Given the description of an element on the screen output the (x, y) to click on. 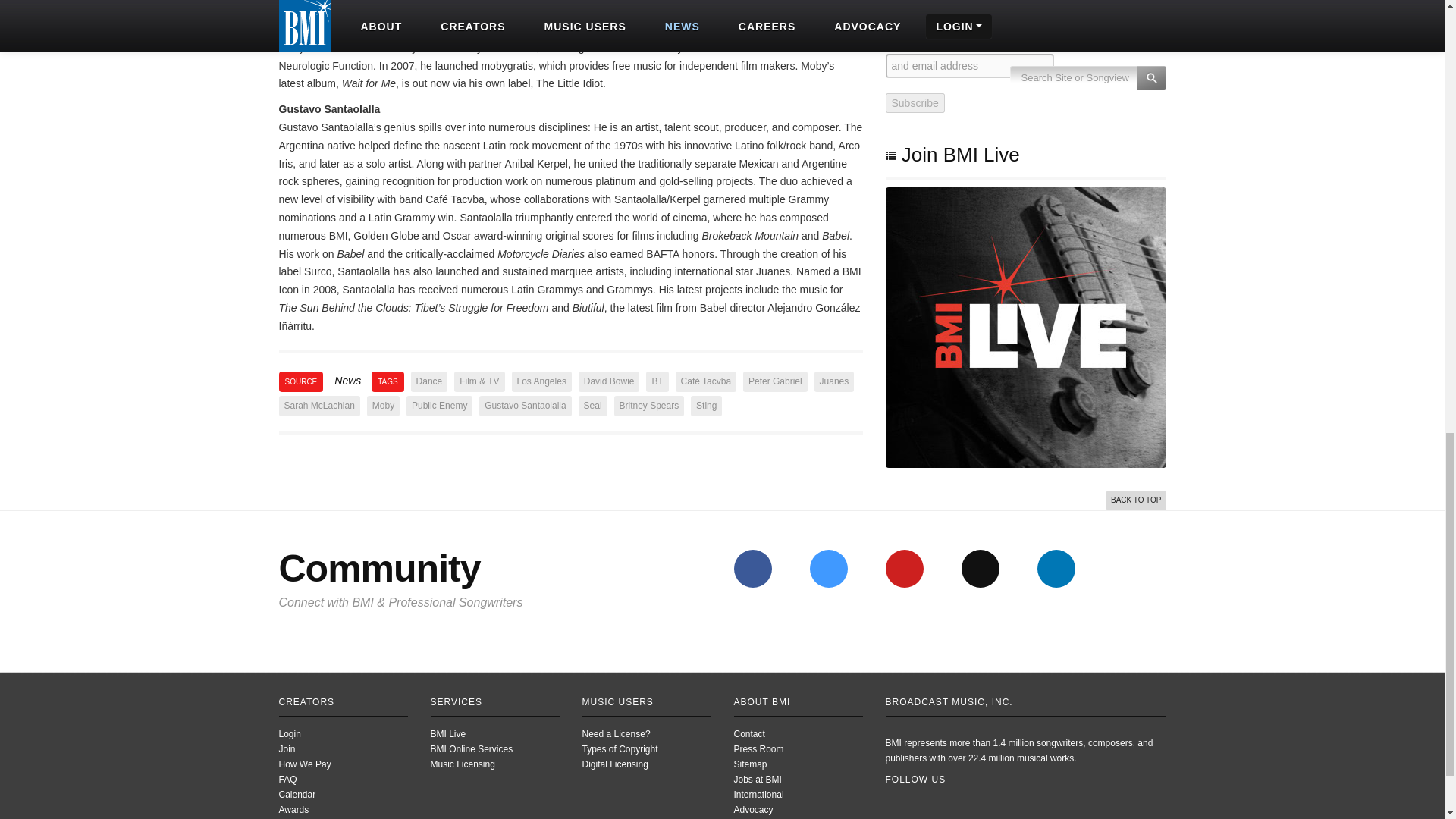
Visit BMI on LinkedIn (1055, 568)
Visit BMI on Twitter (828, 568)
Visit BMI on YouTube (904, 568)
Visit BMI on Instagram (979, 568)
Visit BMI on Facebook (752, 568)
